Given the description of an element on the screen output the (x, y) to click on. 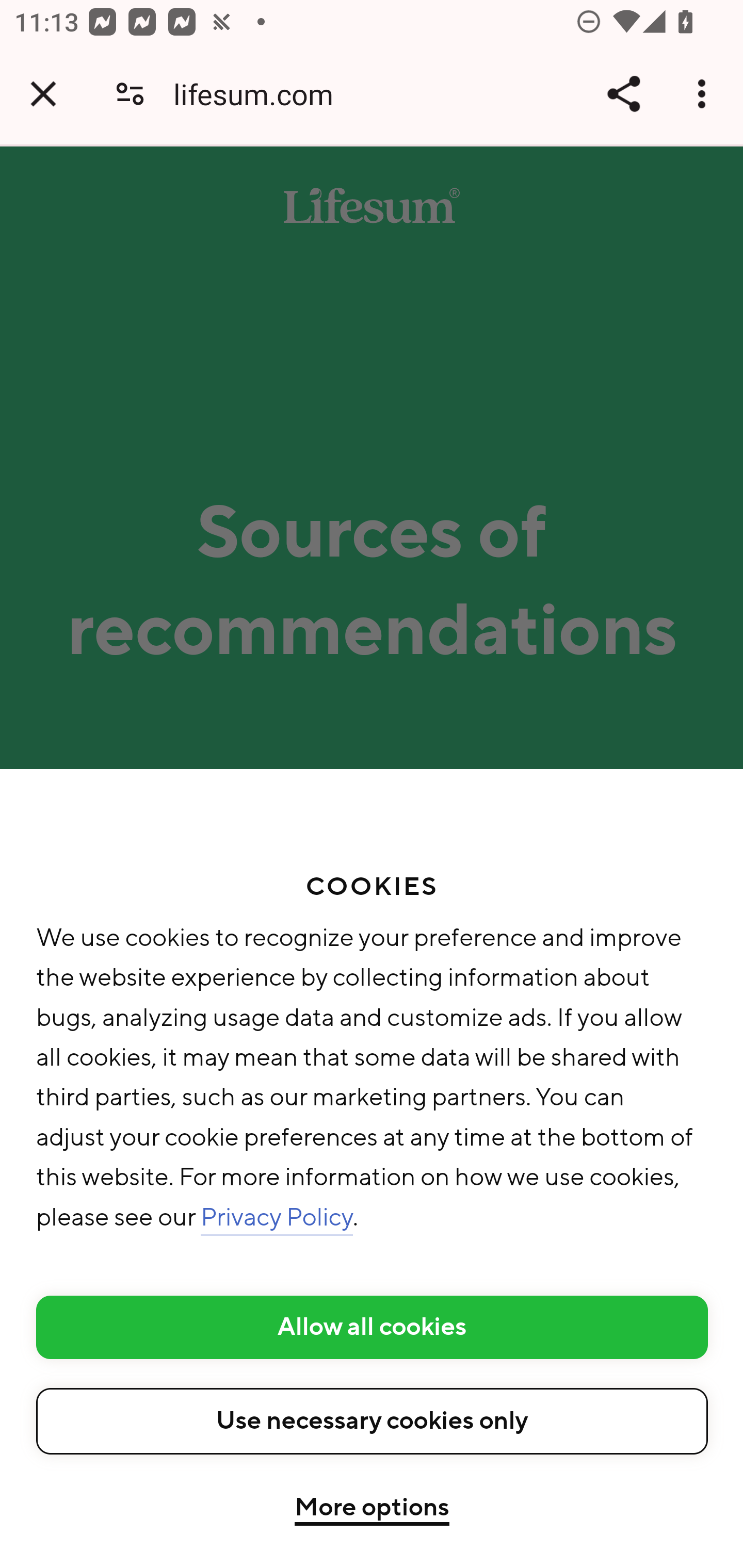
Close tab (43, 93)
Share (623, 93)
Customize and control Google Chrome (705, 93)
Connection is secure (129, 93)
lifesum.com (260, 93)
Privacy Policy (276, 1217)
Allow all cookies (372, 1326)
Use necessary cookies only (372, 1420)
More options (371, 1509)
